Given the description of an element on the screen output the (x, y) to click on. 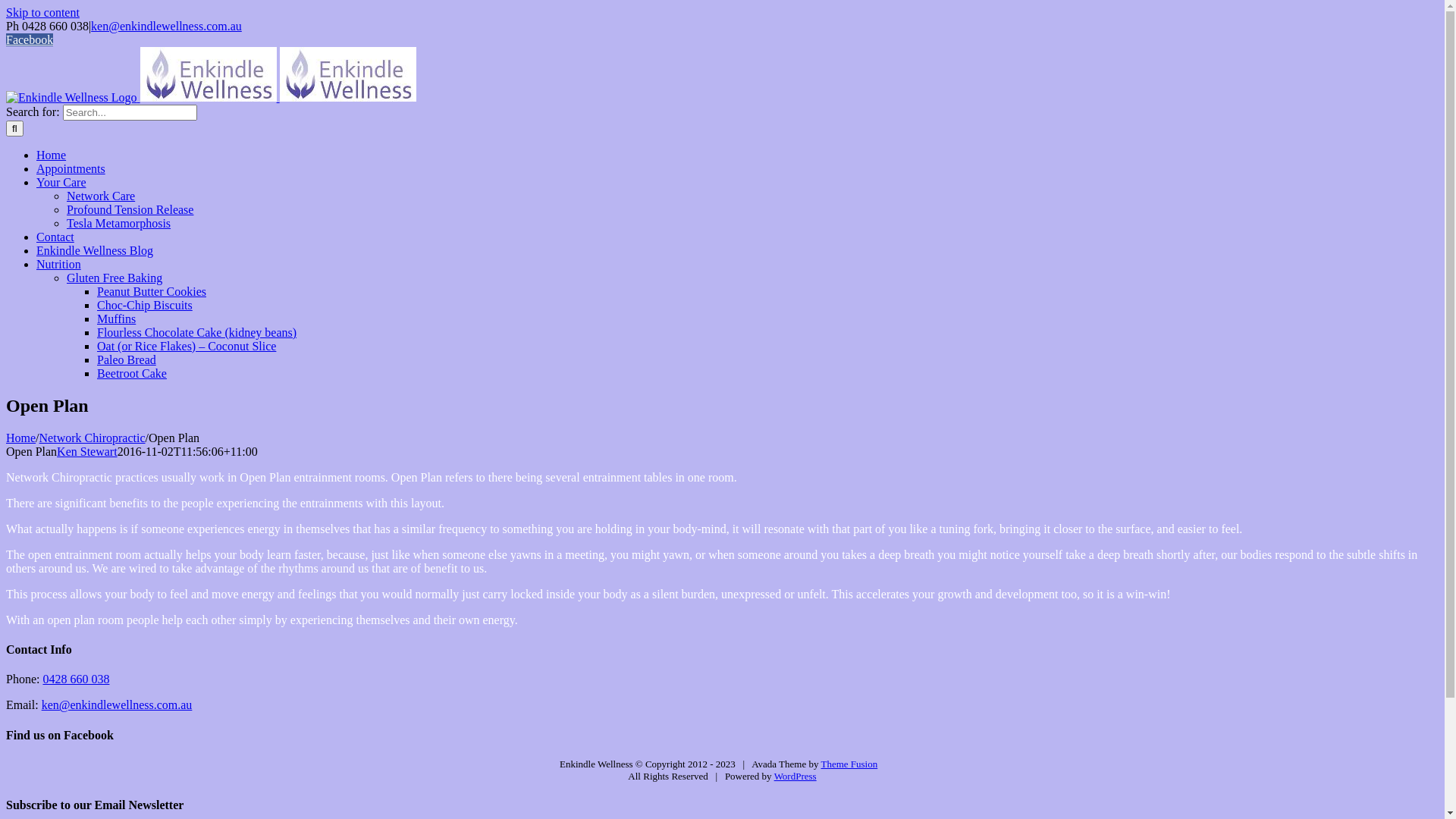
Your Care Element type: text (60, 181)
Facebook Element type: text (29, 39)
Flourless Chocolate Cake (kidney beans) Element type: text (196, 332)
Theme Fusion Element type: text (848, 763)
Nutrition Element type: text (58, 263)
Muffins Element type: text (116, 318)
Home Element type: text (50, 154)
Network Care Element type: text (100, 195)
Profound Tension Release Element type: text (129, 209)
Paleo Bread Element type: text (126, 359)
Home Element type: text (20, 437)
Contact Element type: text (55, 236)
Beetroot Cake Element type: text (131, 373)
ken@enkindlewellness.com.au Element type: text (116, 704)
Skip to content Element type: text (42, 12)
Network Chiropractic Element type: text (92, 437)
ken@enkindlewellness.com.au Element type: text (166, 25)
Tesla Metamorphosis Element type: text (118, 222)
Gluten Free Baking Element type: text (114, 277)
Ken Stewart Element type: text (86, 451)
Peanut Butter Cookies Element type: text (151, 291)
Enkindle Wellness Blog Element type: text (94, 250)
Appointments Element type: text (70, 168)
WordPress Element type: text (795, 775)
Choc-Chip Biscuits Element type: text (144, 304)
0428 660 038 Element type: text (75, 678)
